Given the description of an element on the screen output the (x, y) to click on. 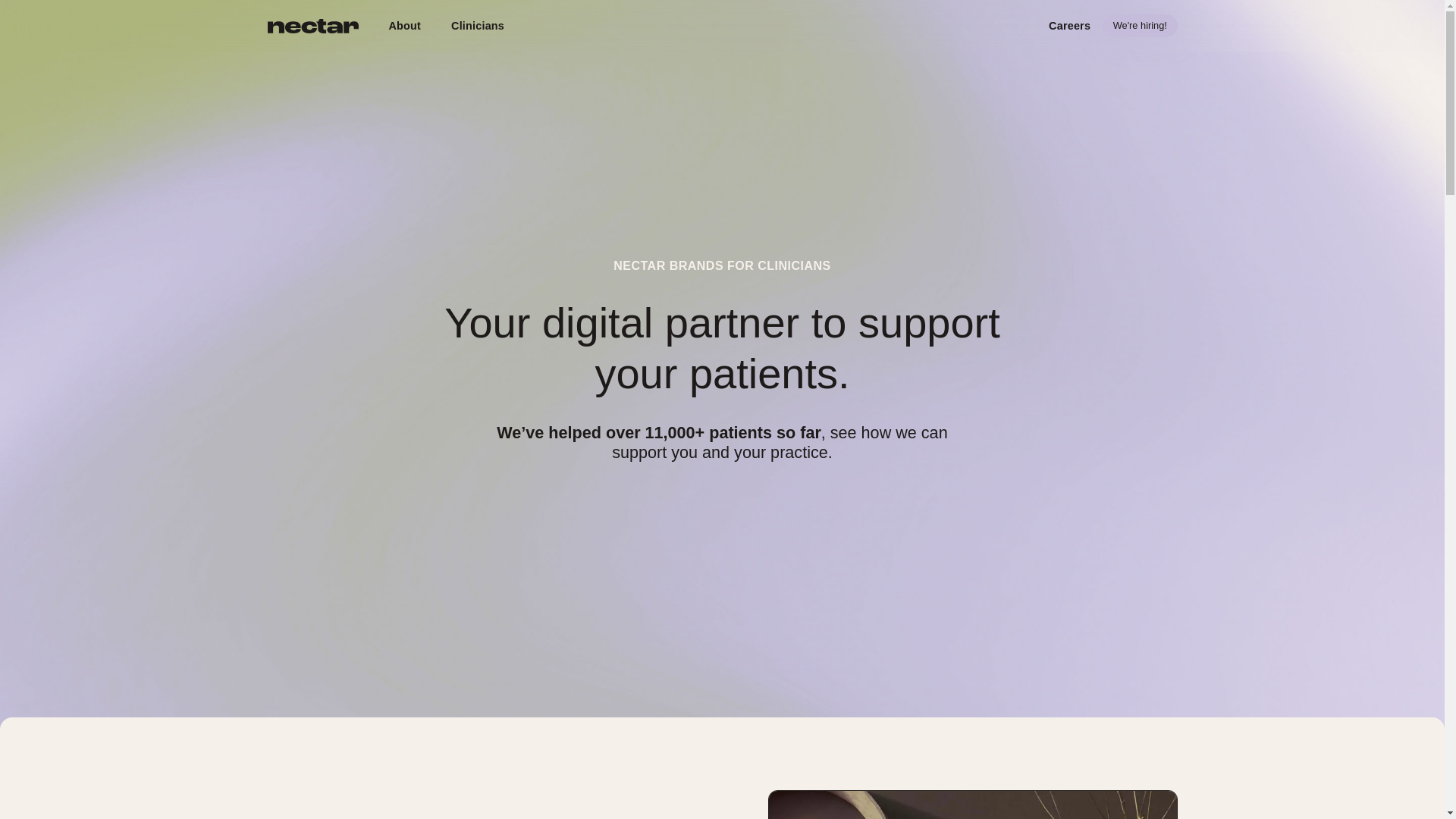
Careers (1069, 25)
About (403, 25)
Clinicians (477, 25)
